Given the description of an element on the screen output the (x, y) to click on. 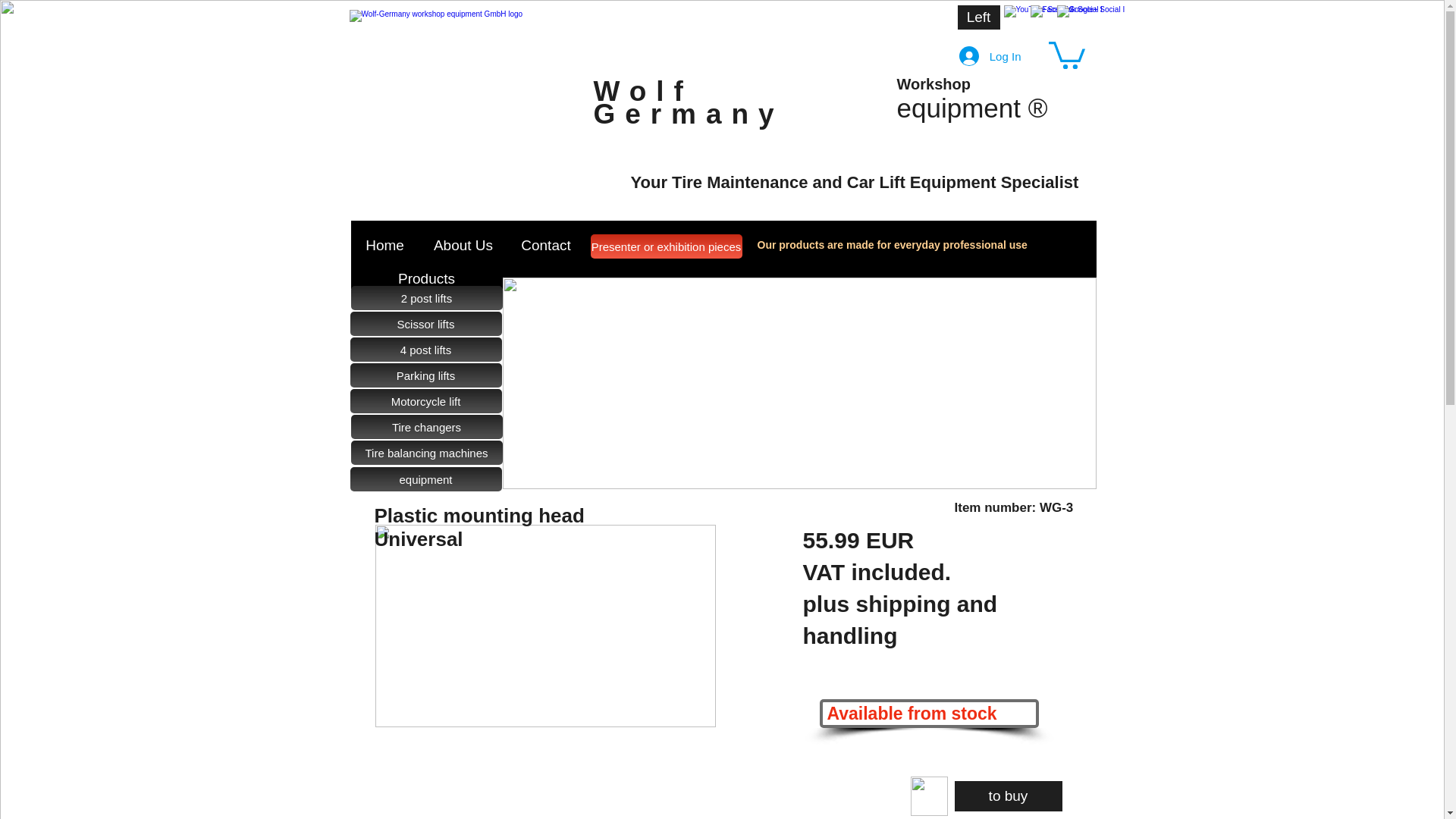
Home (384, 244)
2 post lifts (426, 297)
Presenter or exhibition pieces (665, 246)
Scissor lifts (426, 323)
to buy (1007, 796)
Parking lifts (426, 375)
Motorcycle lift (426, 401)
Contact (545, 245)
equipment (426, 478)
Tire balancing machines (426, 452)
4 post lifts (426, 349)
Left (977, 16)
1.jpg (544, 625)
Log In (990, 55)
Tire changers (426, 426)
